Given the description of an element on the screen output the (x, y) to click on. 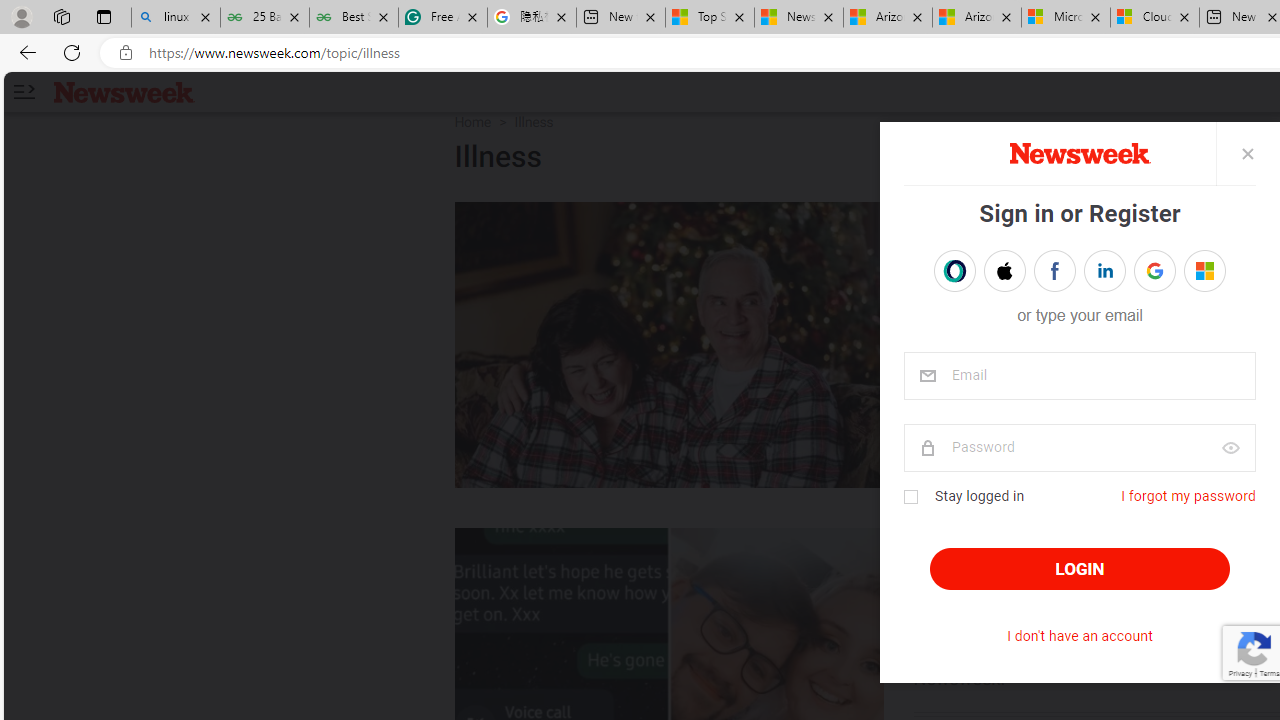
Refresh (72, 52)
Best SSL Certificates Provider in India - GeeksforGeeks (353, 17)
Newsweek logo (123, 91)
AutomationID: side-arrow (23, 92)
New tab (621, 17)
Sign in with OPENPASS (954, 270)
Sign in with APPLE (1004, 270)
password (1078, 448)
I forgot my password (1187, 496)
Free AI Writing Assistance for Students | Grammarly (443, 17)
email (1078, 376)
Sign in with GOOGLE (1154, 270)
I don't have an account (1079, 636)
Workspaces (61, 16)
